Given the description of an element on the screen output the (x, y) to click on. 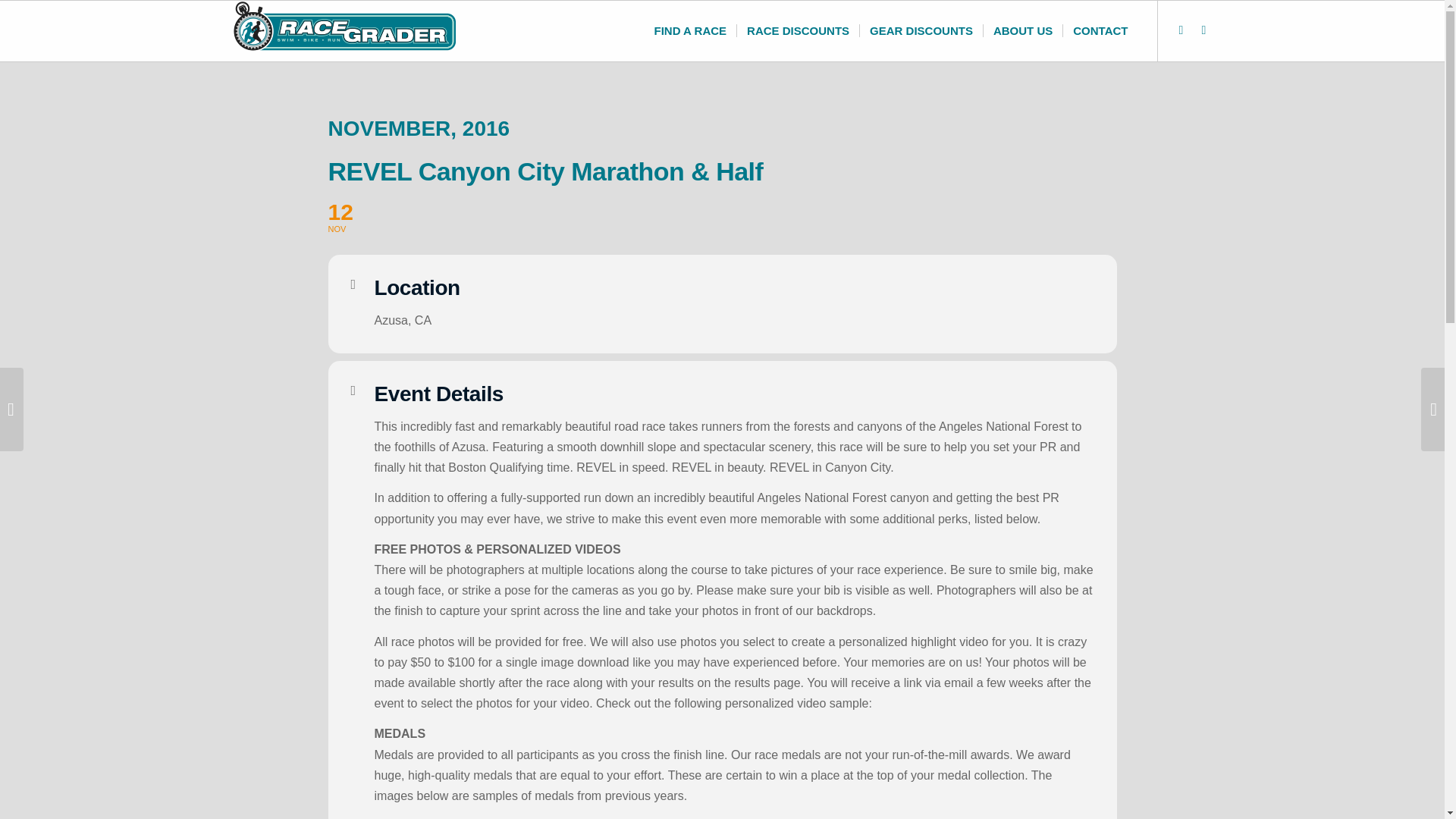
CONTACT (1099, 30)
ABOUT US (1022, 30)
RACE DISCOUNTS (797, 30)
Facebook (1203, 29)
FIND A RACE (690, 30)
Instagram (1180, 29)
GEAR DISCOUNTS (721, 216)
